Given the description of an element on the screen output the (x, y) to click on. 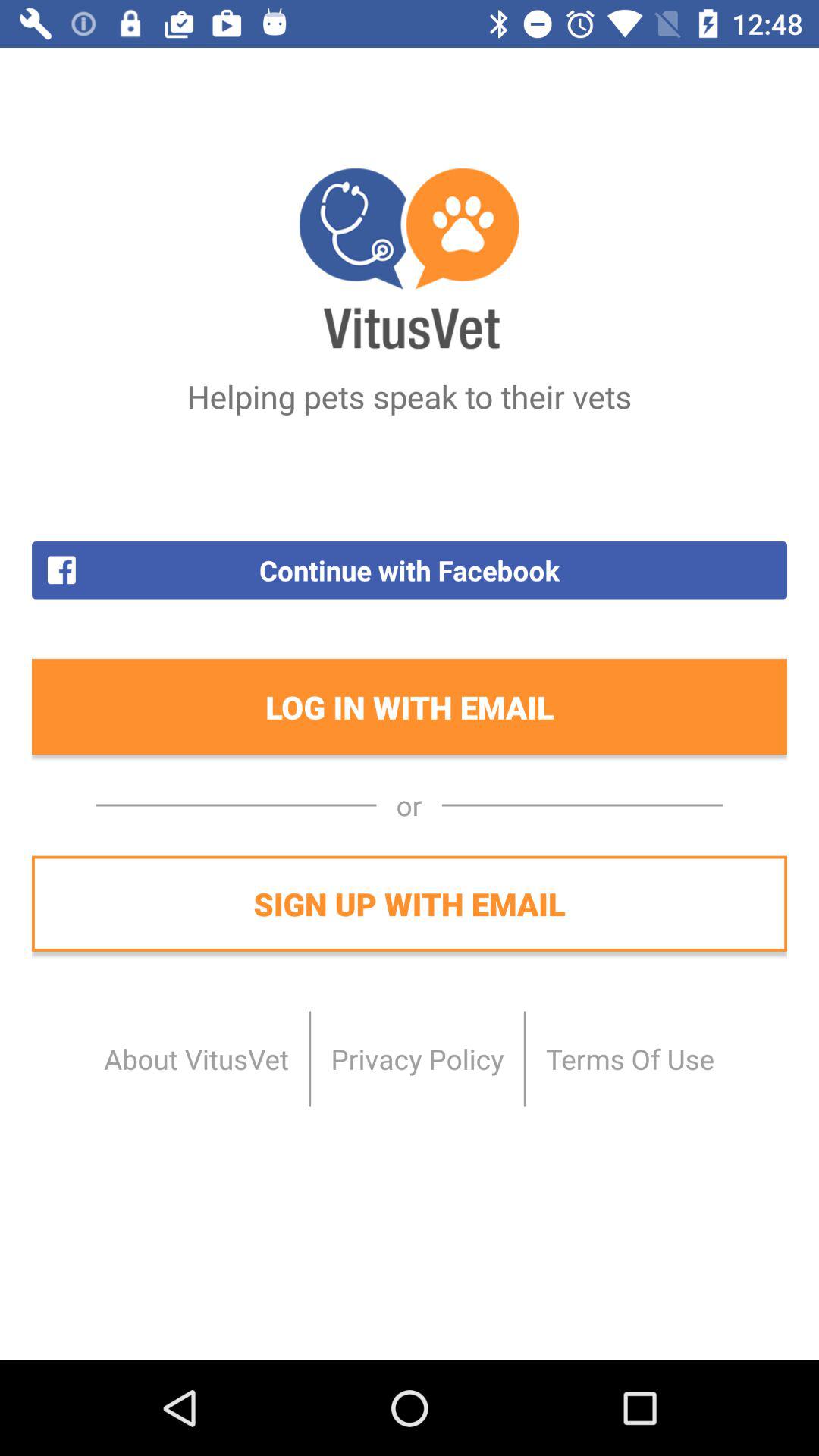
choose privacy policy item (417, 1058)
